Given the description of an element on the screen output the (x, y) to click on. 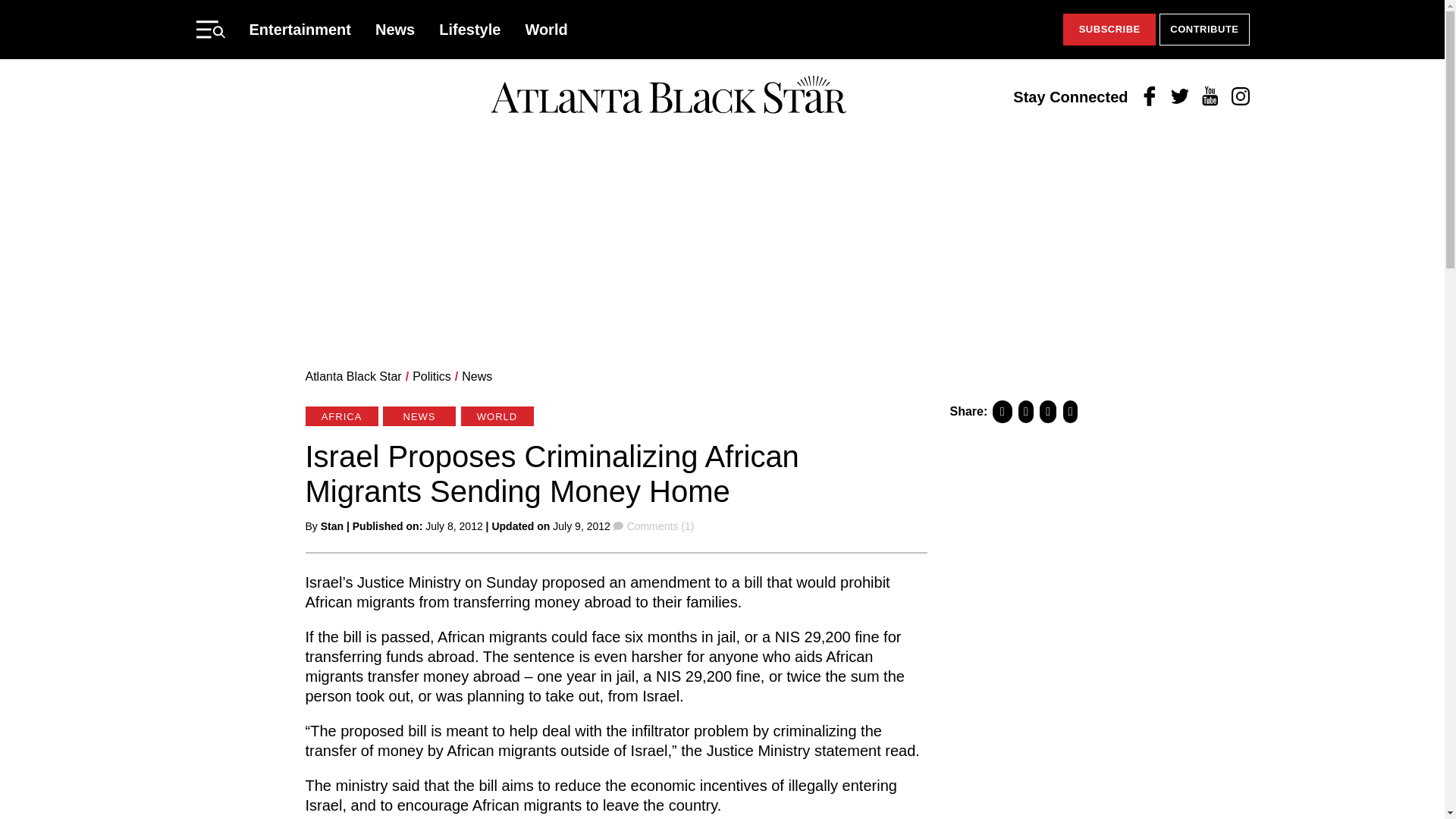
Go to the Politics Category archives. (431, 376)
News (394, 29)
Politics (431, 376)
NEWS (418, 415)
Atlanta Black Star (667, 96)
AFRICA (340, 415)
Atlanta Black Star (352, 376)
Lifestyle (469, 29)
Go to Atlanta Black Star. (352, 376)
SUBSCRIBE (1109, 29)
